Given the description of an element on the screen output the (x, y) to click on. 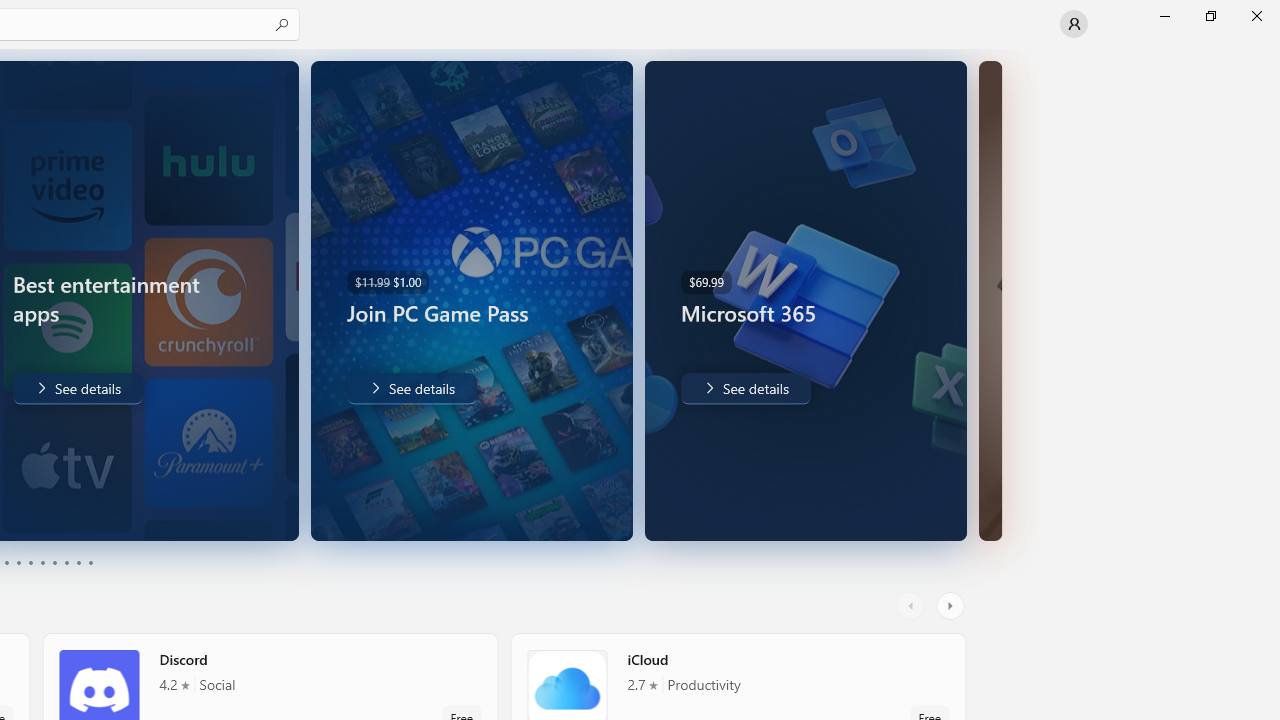
Page 4 (17, 562)
AutomationID: LeftScrollButton (913, 606)
Page 8 (65, 562)
AutomationID: RightScrollButton (952, 606)
Page 5 (29, 562)
AutomationID: Image (989, 300)
Close Microsoft Store (1256, 15)
Page 3 (5, 562)
Page 7 (54, 562)
Minimize Microsoft Store (1164, 15)
Page 10 (90, 562)
User profile (1073, 24)
